Given the description of an element on the screen output the (x, y) to click on. 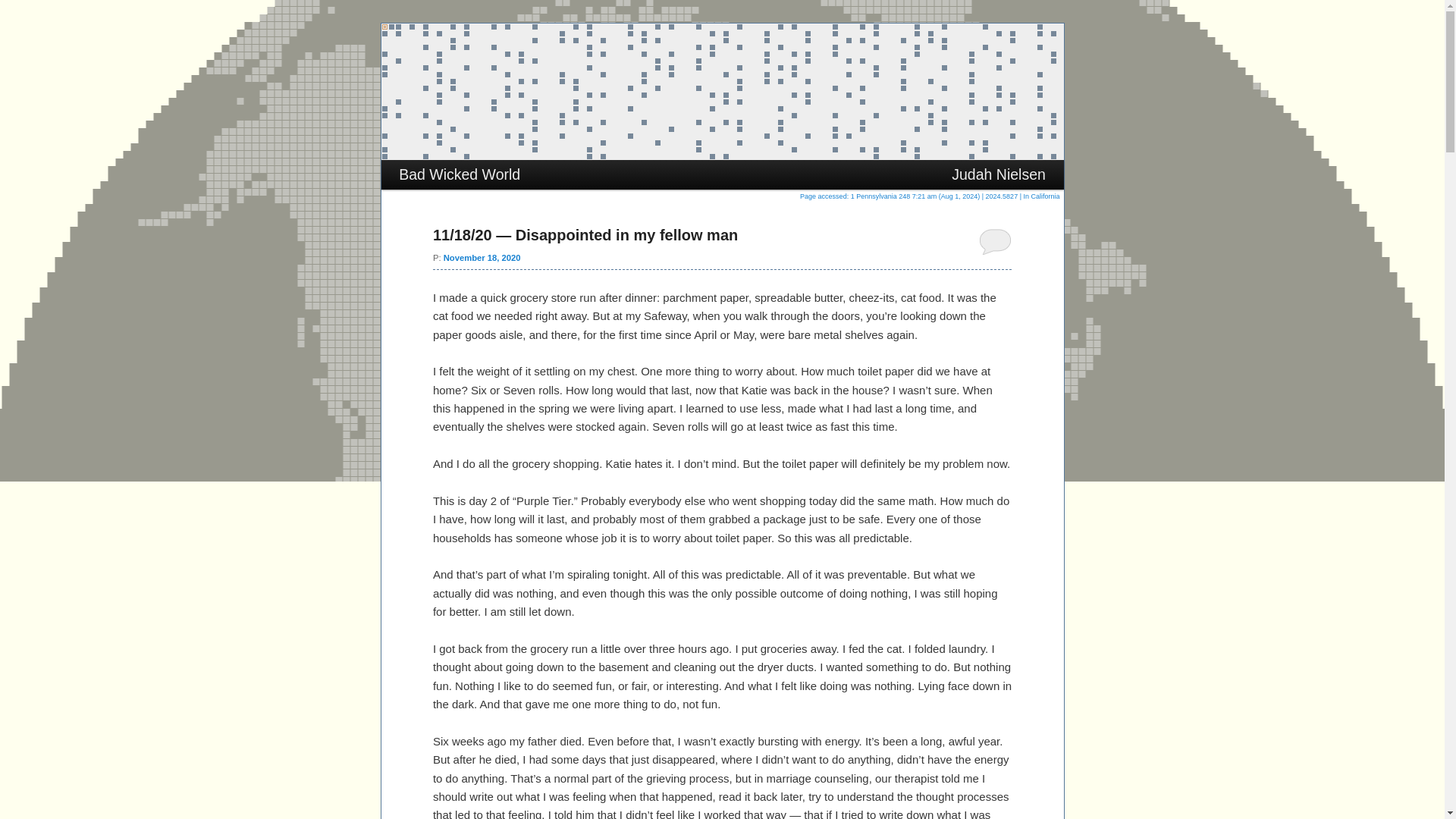
Bad Wicked World (531, 78)
Bad Wicked World (531, 78)
11:45 pm (482, 257)
Judah Nielsen (999, 174)
Bad Wicked World (458, 174)
November 18, 2020 (482, 257)
